Given the description of an element on the screen output the (x, y) to click on. 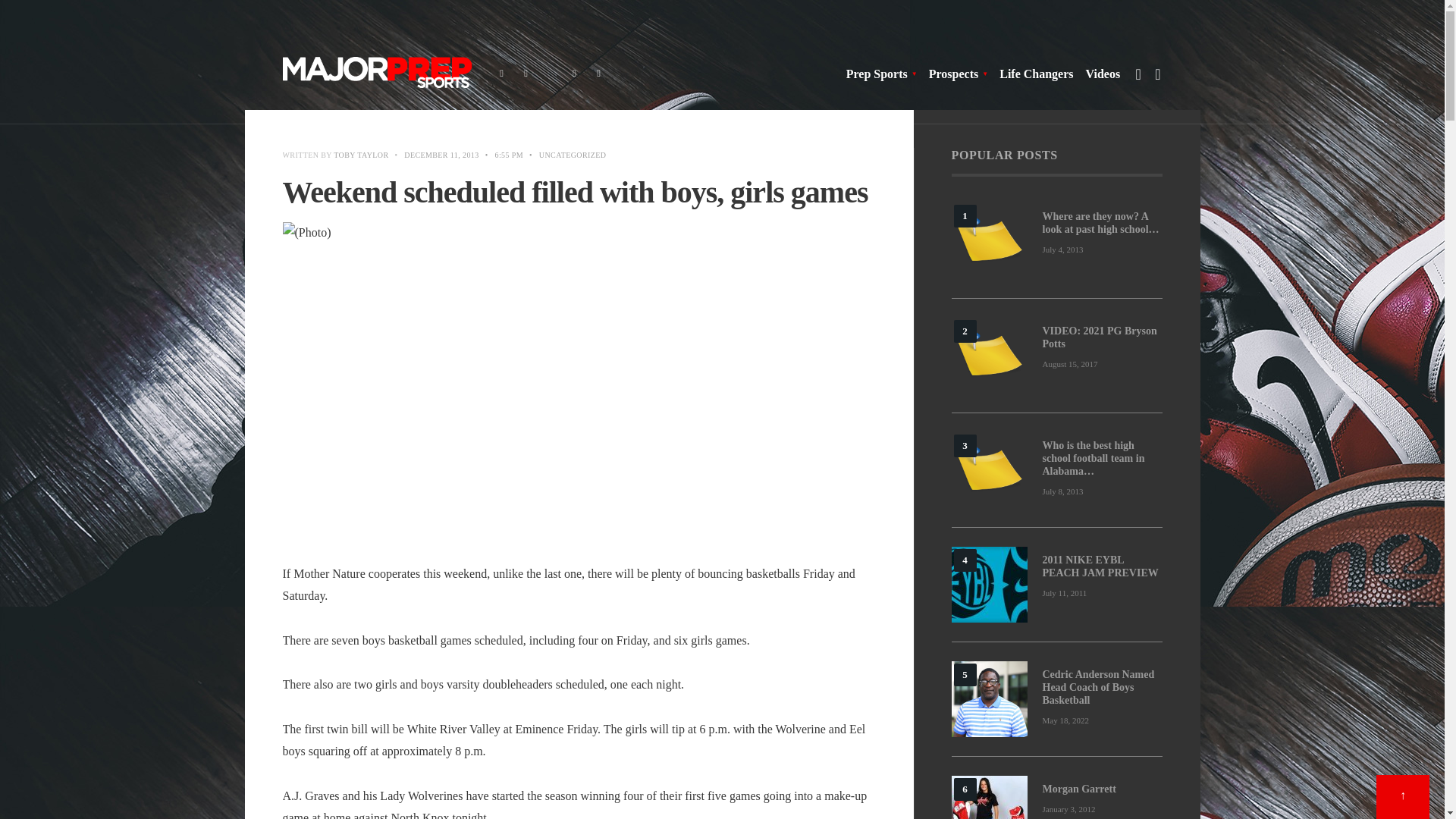
VIDEO: 2021 PG Bryson Potts (988, 355)
YouTube (599, 74)
Prospects (957, 73)
Posts by Toby Taylor (360, 154)
TOBY TAYLOR (360, 154)
Twitter (526, 74)
Instagram (574, 74)
Prep Sports (881, 73)
Cedric Anderson Named Head Coach of Boys Basketball (988, 698)
2011 NIKE EYBL PEACH JAM PREVIEW (988, 584)
Morgan Garrett (988, 797)
TikTok (550, 74)
Life Changers (1035, 73)
Videos (1103, 73)
Facebook (502, 74)
